Given the description of an element on the screen output the (x, y) to click on. 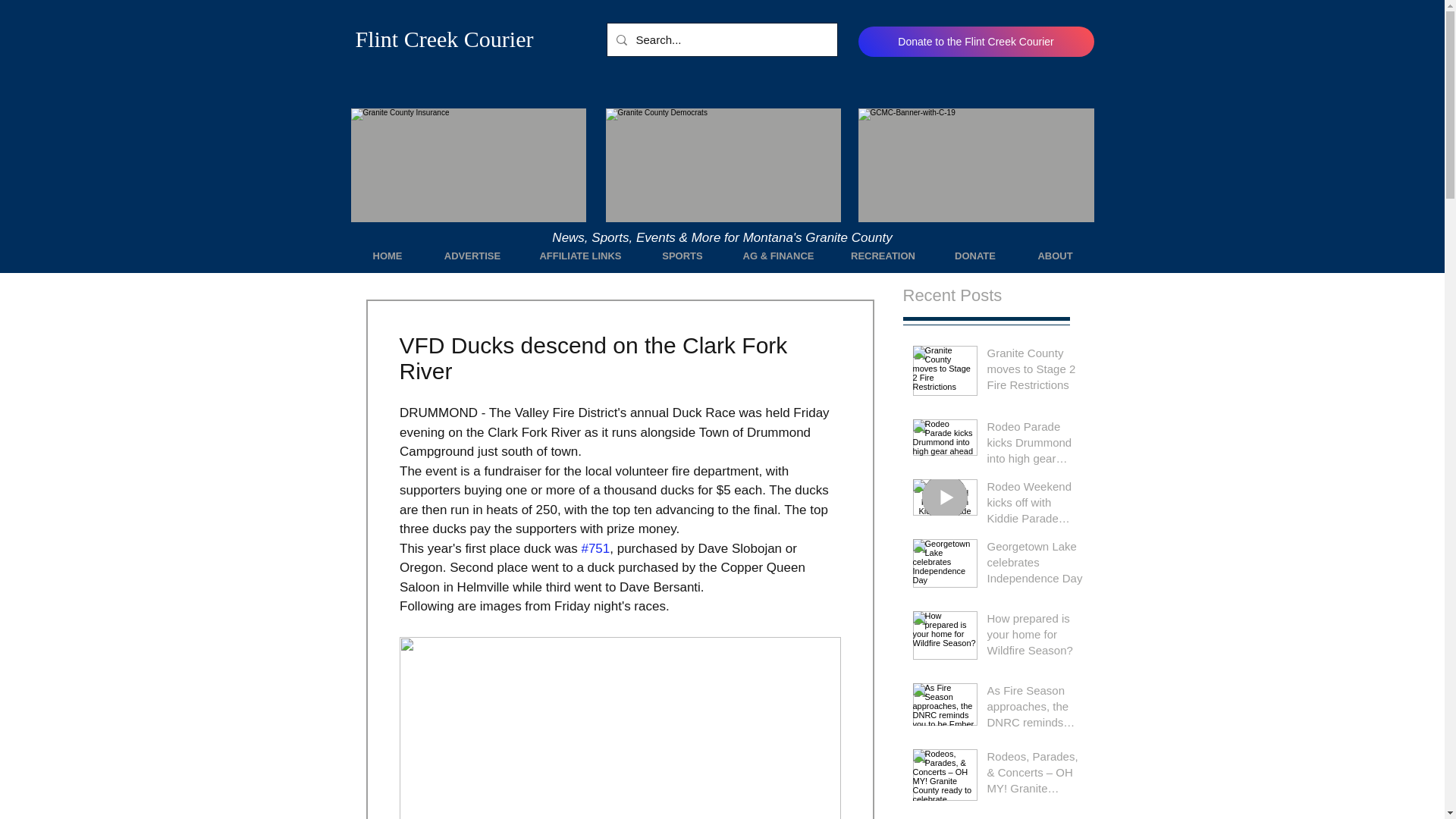
ADVERTISE (473, 255)
SPORTS (681, 255)
HOME (386, 255)
ABOUT (1054, 255)
DONATE (975, 255)
Georgetown Lake celebrates Independence Day (1035, 565)
Rodeo Weekend kicks off with Kiddie Parade Saturday (1035, 505)
How prepared is your home for Wildfire Season? (1035, 637)
Donate to the Flint Creek Courier (976, 41)
